Given the description of an element on the screen output the (x, y) to click on. 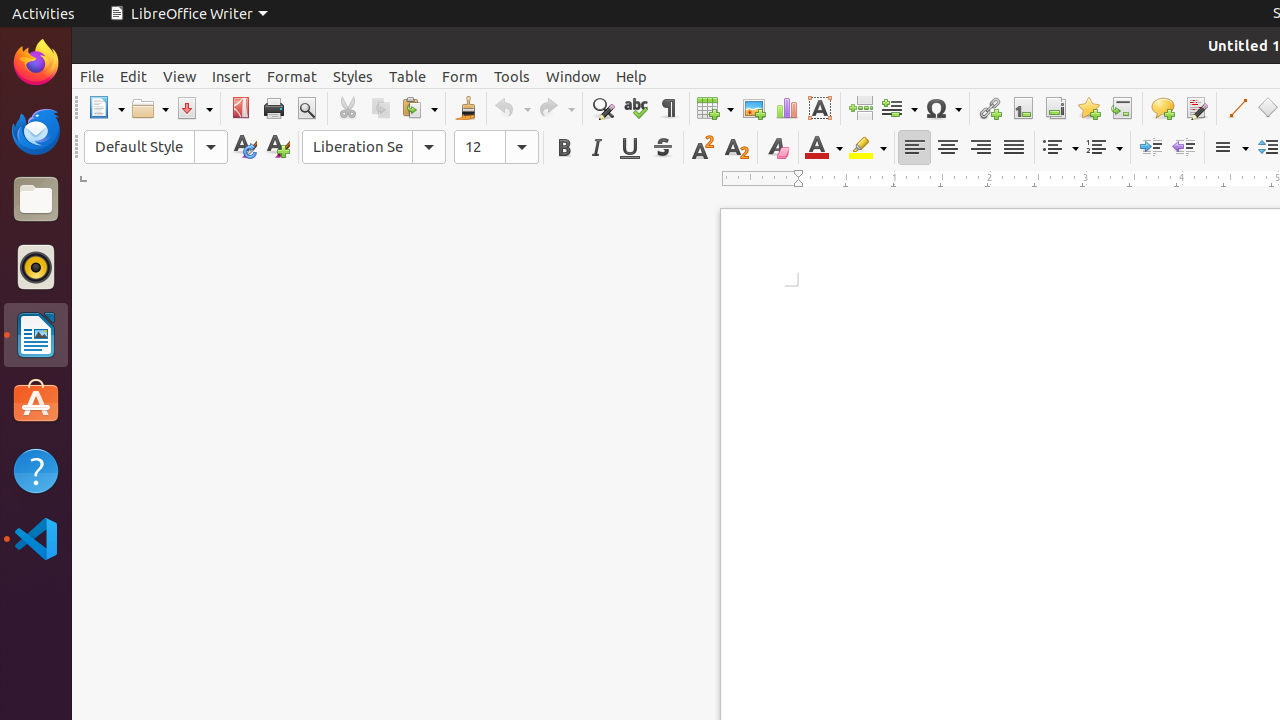
Endnote Element type: push-button (1055, 108)
Insert Element type: menu (231, 76)
Table Element type: push-button (715, 108)
Superscript Element type: toggle-button (703, 147)
Paste Element type: push-button (419, 108)
